Given the description of an element on the screen output the (x, y) to click on. 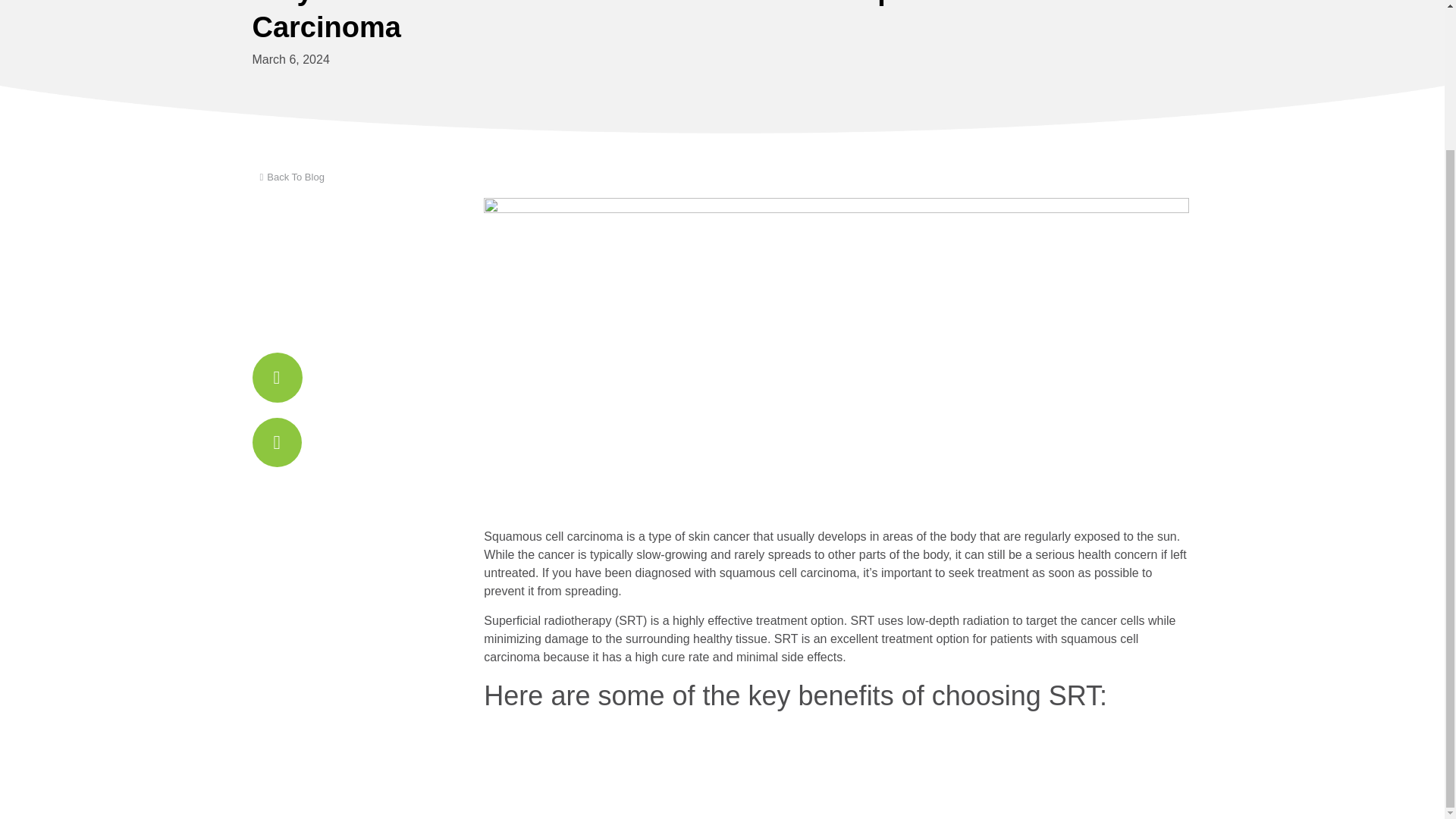
Back To Blog (287, 177)
